Given the description of an element on the screen output the (x, y) to click on. 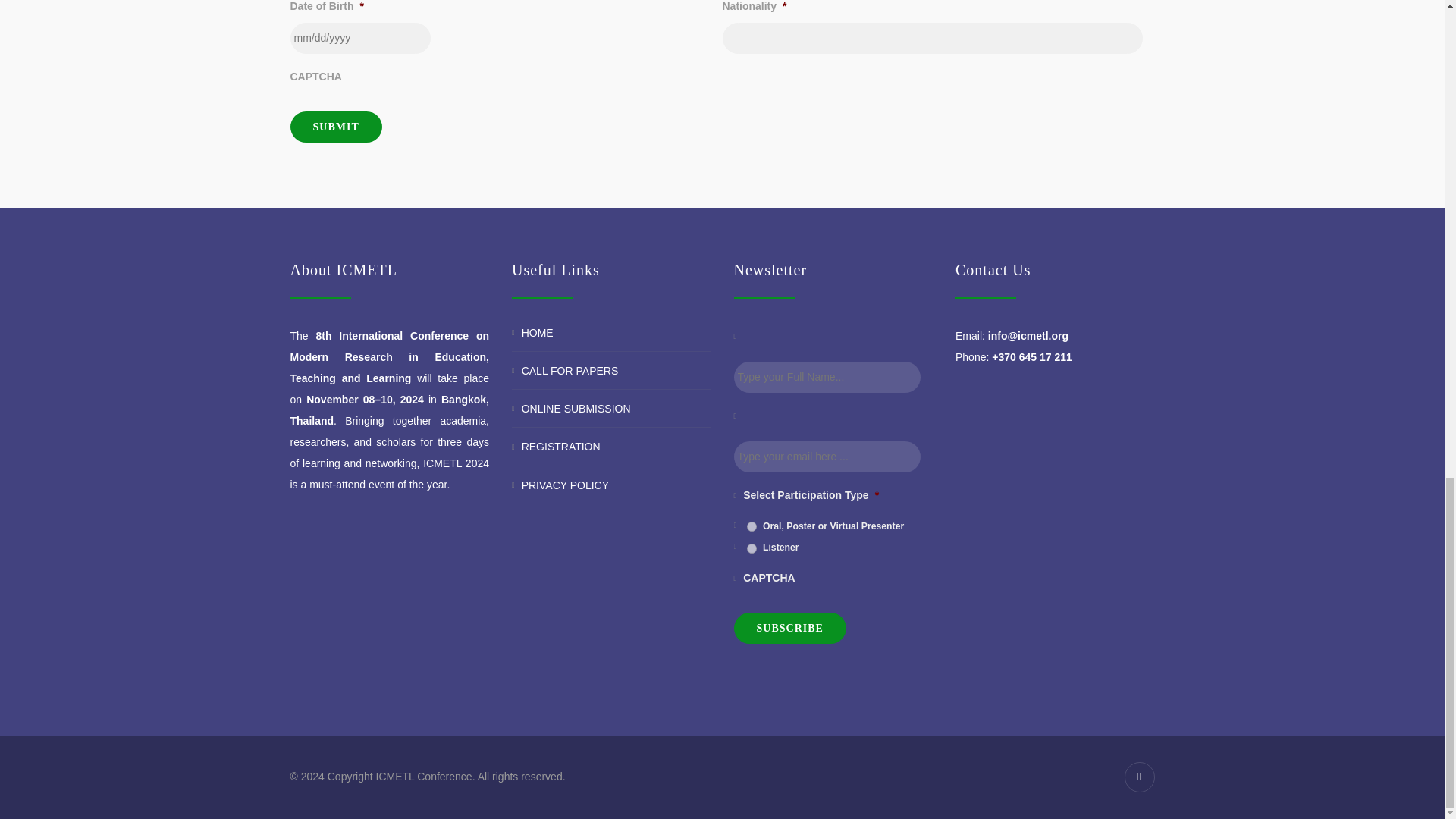
ONLINE SUBMISSION (575, 408)
REGISTRATION (560, 447)
Subscribe (789, 627)
Listener (751, 548)
PRIVACY POLICY (564, 485)
CALL FOR PAPERS (569, 370)
Submit (335, 126)
Oral, Poster or Virtual Presenter (751, 526)
Submit (335, 126)
Subscribe (789, 627)
